Given the description of an element on the screen output the (x, y) to click on. 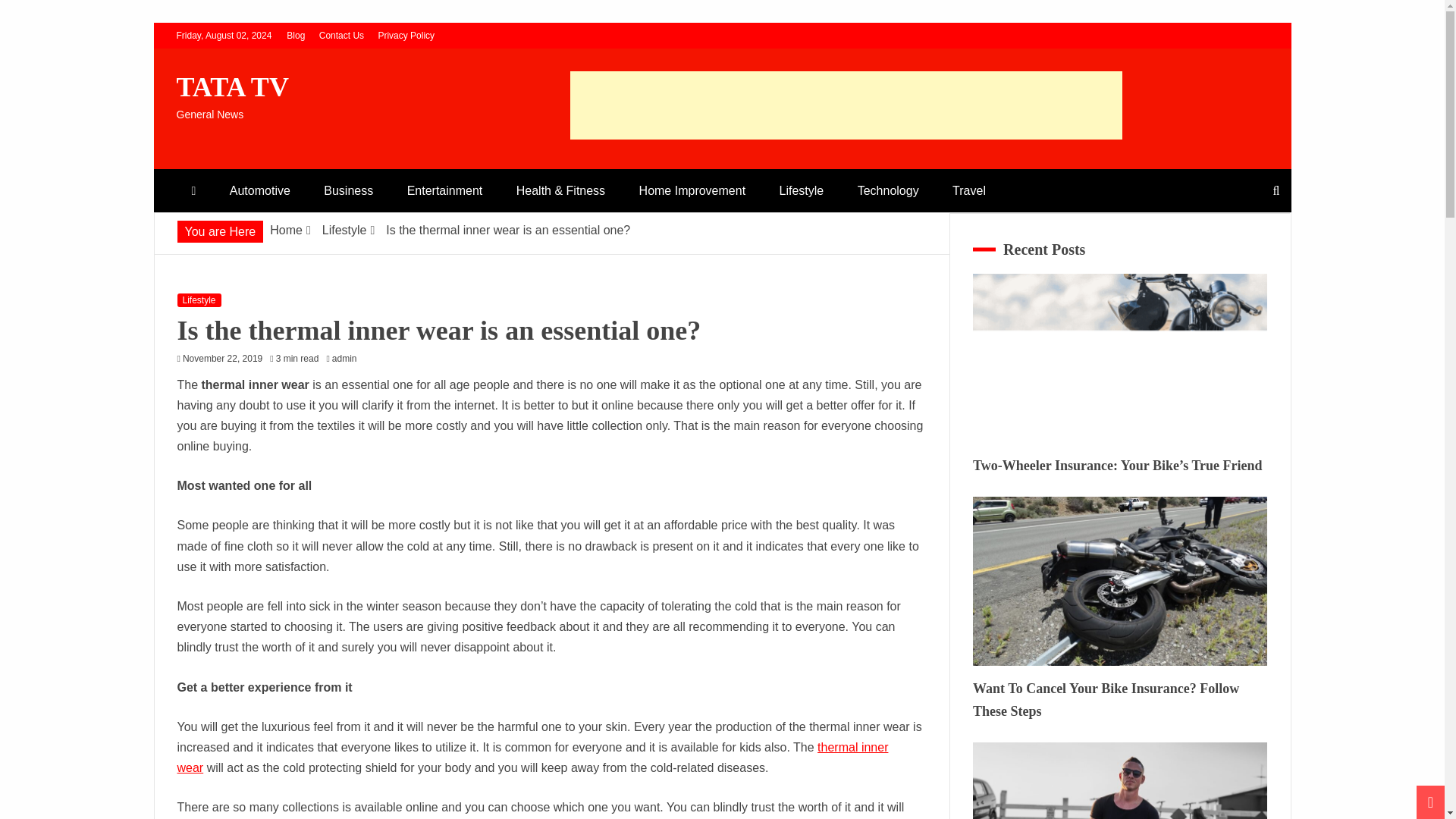
Home Improvement (692, 190)
Contact Us (341, 35)
November 22, 2019 (222, 357)
Lifestyle (802, 190)
Lifestyle (343, 229)
TATA TV (232, 87)
Home (285, 229)
thermal inner wear (532, 757)
Entertainment (444, 190)
